Given the description of an element on the screen output the (x, y) to click on. 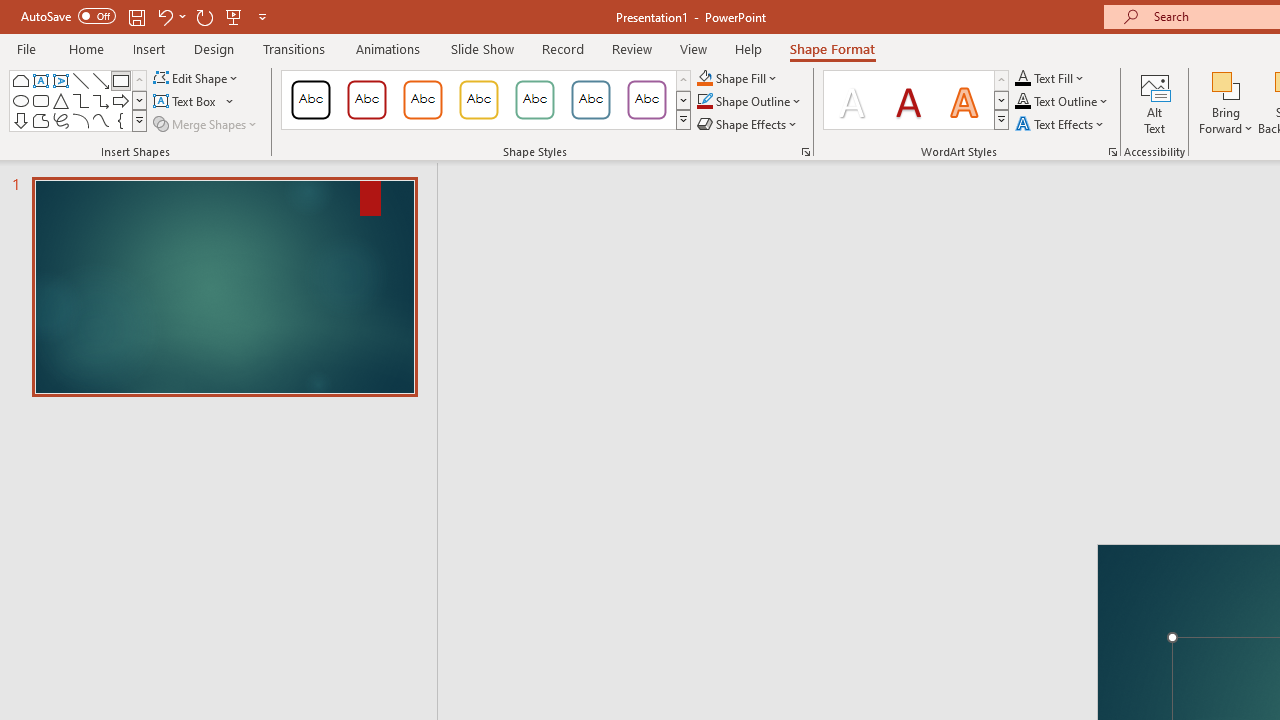
Merge Shapes (206, 124)
Edit Shape (196, 78)
Bring Forward (1225, 84)
Text Fill (1050, 78)
AutomationID: ShapeStylesGallery (486, 99)
Text Fill RGB(0, 0, 0) (1023, 78)
